Given the description of an element on the screen output the (x, y) to click on. 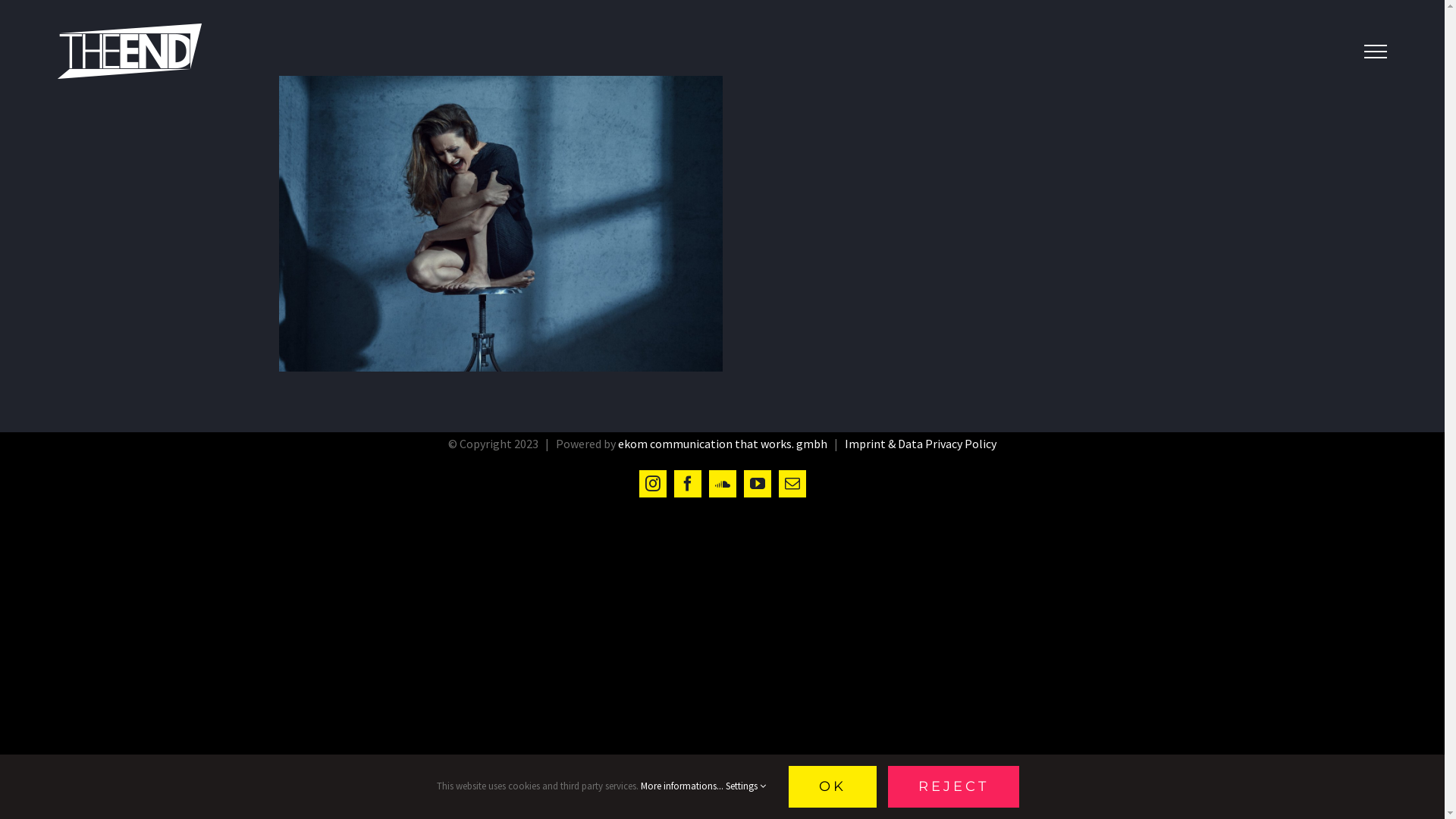
REJECT Element type: text (953, 786)
OK Element type: text (832, 786)
E-Mail Element type: text (791, 483)
Imprint & Data Privacy Policy Element type: text (920, 443)
More informations... Element type: text (681, 785)
Instagram Element type: text (651, 483)
SoundCloud Element type: text (721, 483)
Settings Element type: text (745, 785)
Facebook Element type: text (686, 483)
YouTube Element type: text (756, 483)
ekom communication that works. gmbh Element type: text (722, 443)
